Given the description of an element on the screen output the (x, y) to click on. 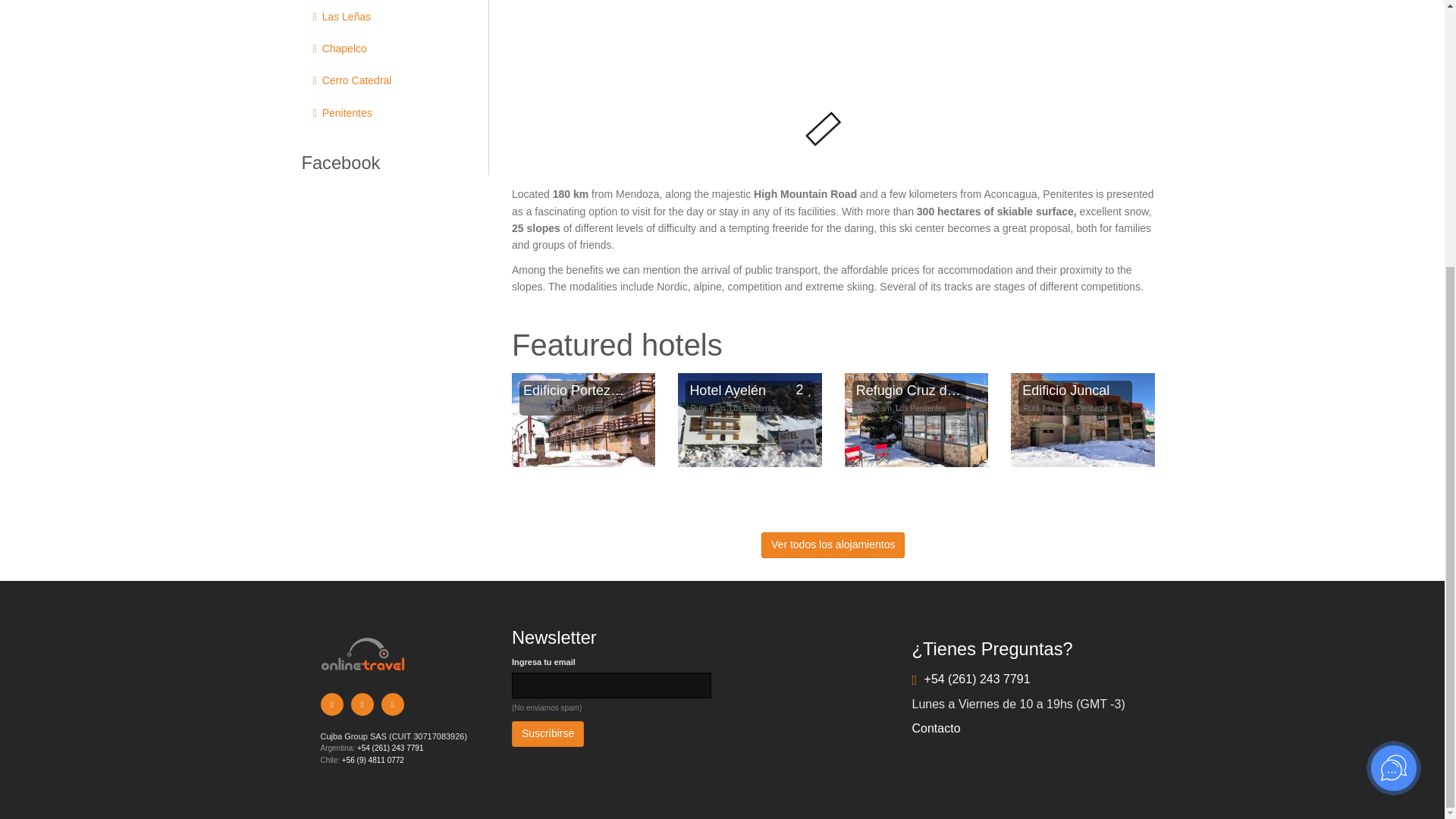
Edificio Portezuelo (575, 390)
Edificio Juncal (1075, 390)
Edificio Portezuelo (583, 419)
Chapelco (383, 48)
Suscribirse (547, 733)
Edificio Juncal (1082, 419)
